Given the description of an element on the screen output the (x, y) to click on. 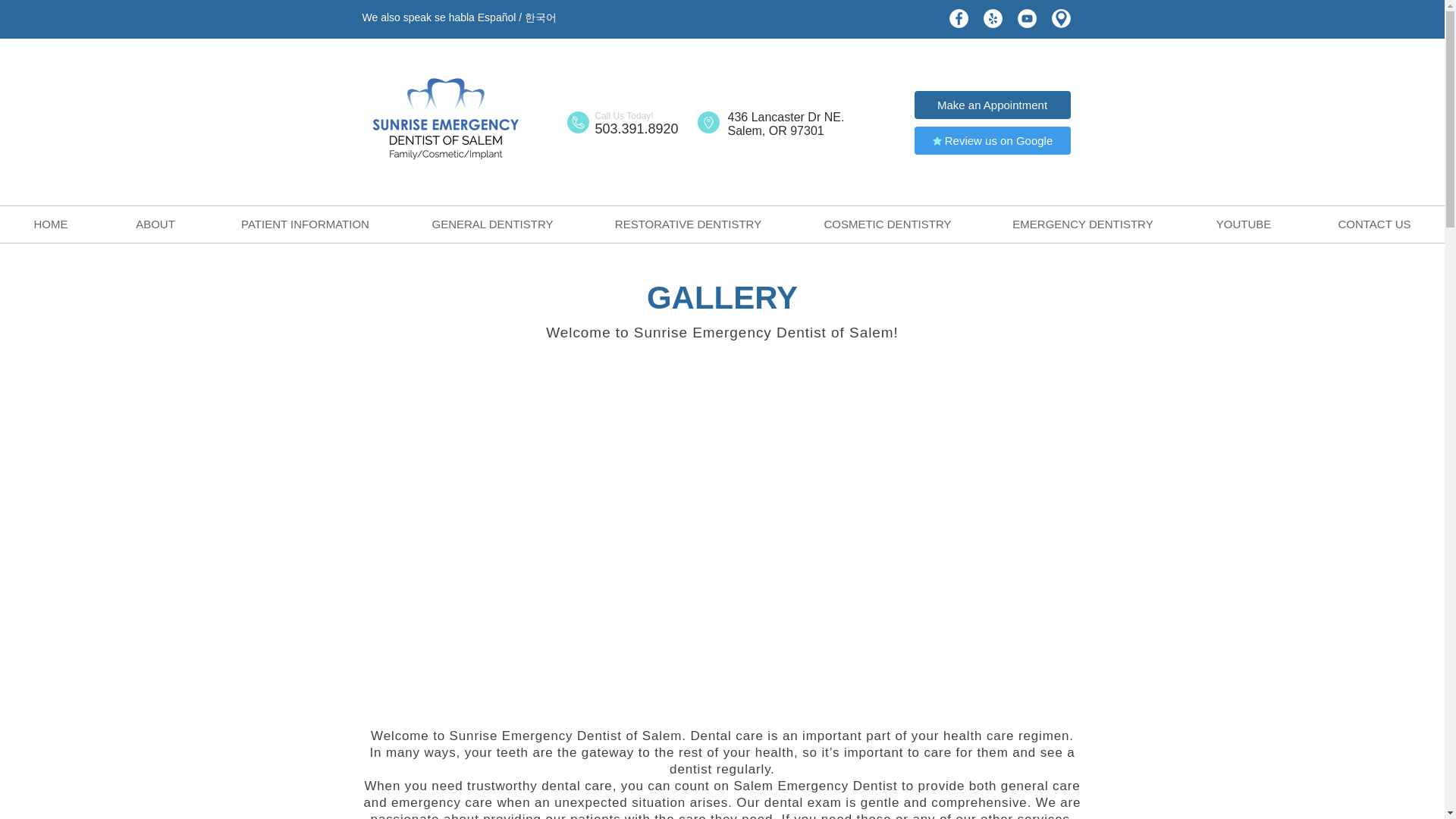
PATIENT INFORMATION (305, 224)
HOME (50, 224)
RESTORATIVE DENTISTRY (687, 224)
Salem, OR 97301 (776, 130)
503.391.8920 (636, 128)
Review us on Google (992, 140)
436 Lancaster Dr NE. (786, 116)
Make an Appointment (992, 104)
COSMETIC DENTISTRY (887, 224)
EMERGENCY DENTISTRY (1082, 224)
GENERAL DENTISTRY (492, 224)
Call Us Today! (623, 115)
